Given the description of an element on the screen output the (x, y) to click on. 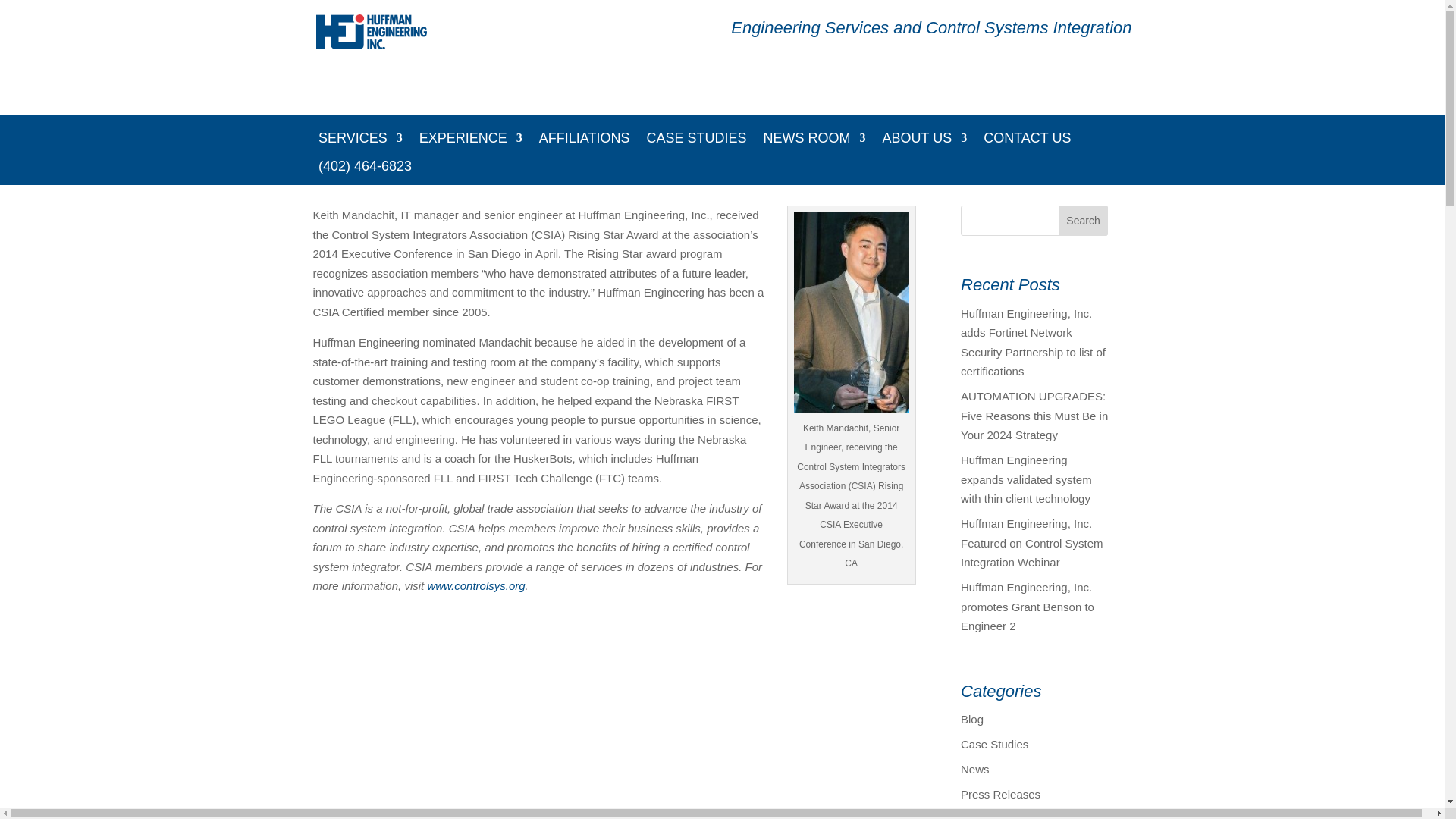
SERVICES (360, 144)
AFFILIATIONS (584, 144)
NEWS ROOM (813, 144)
Search (1083, 220)
CONTACT US (1027, 144)
Engineering Services and Control Systems Integration (930, 41)
CASE STUDIES (695, 144)
ABOUT US (924, 144)
EXPERIENCE (470, 144)
